Given the description of an element on the screen output the (x, y) to click on. 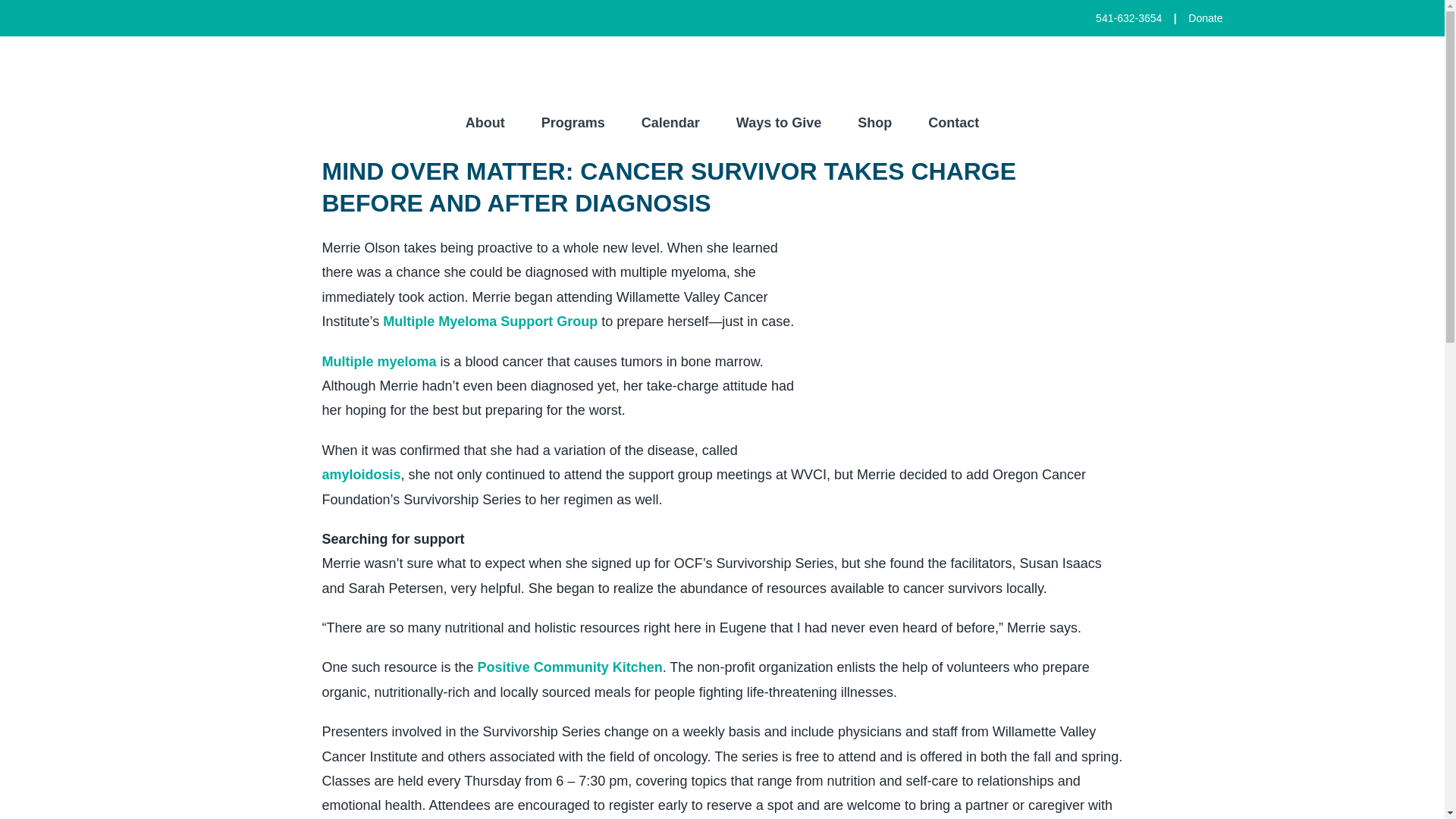
amyloidosis (360, 474)
Calendar (671, 122)
Programs (573, 122)
Shop (874, 122)
Multiple myeloma (378, 361)
Positive Community Kitchen (569, 667)
Donate (1205, 18)
Ways to Give (778, 122)
About (485, 122)
541-632-3654 (1128, 18)
Contact (953, 122)
September 2016 Multiple Myeloma Support Group (489, 321)
Multiple Myeloma Support Group (489, 321)
